Given the description of an element on the screen output the (x, y) to click on. 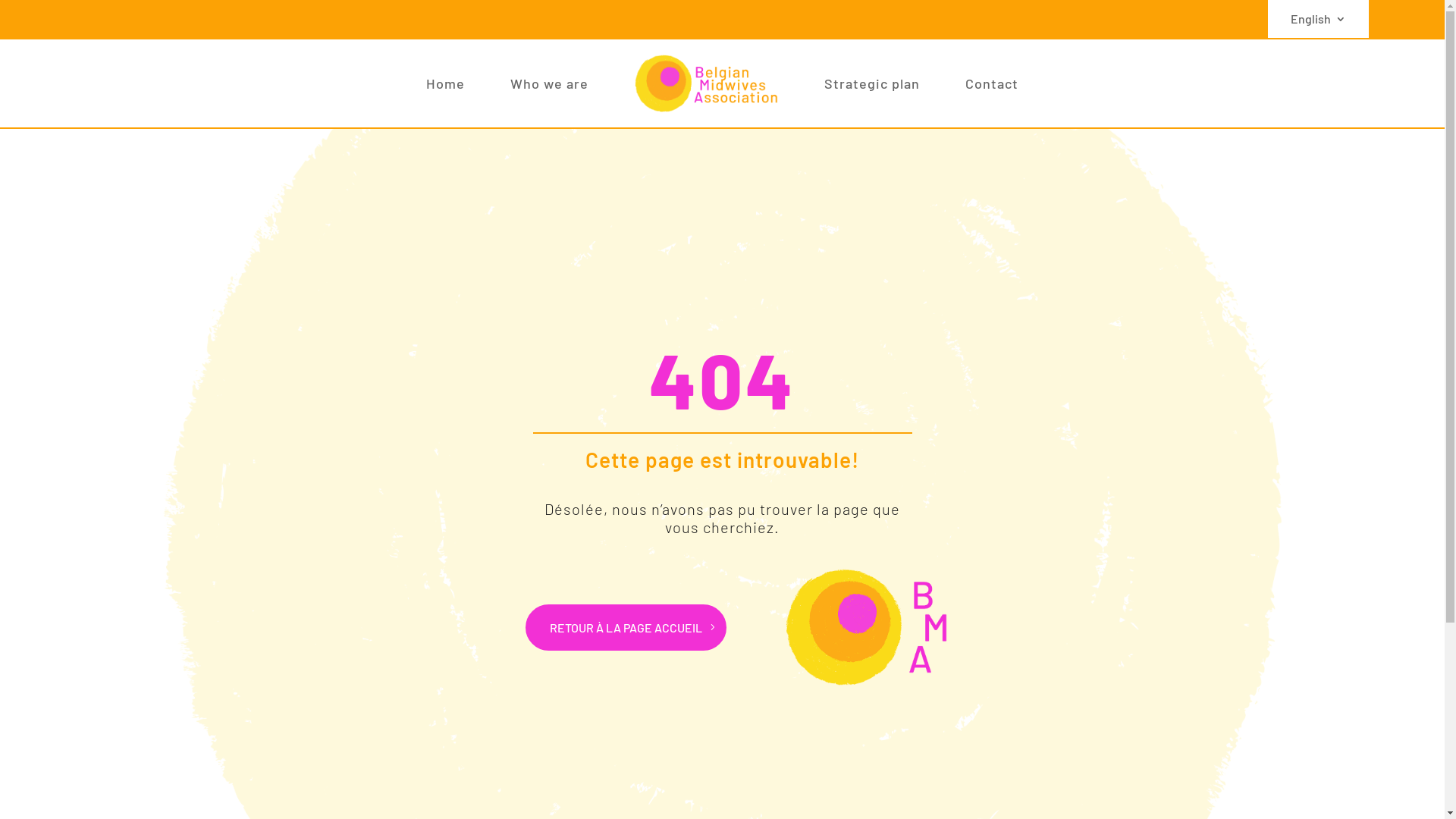
Home Element type: text (445, 83)
Contact Element type: text (991, 83)
BMA_Logo_ShortHorizontal_0809_small Element type: hover (865, 627)
English Element type: text (1318, 21)
Who we are Element type: text (549, 83)
Strategic plan Element type: text (871, 83)
